Given the description of an element on the screen output the (x, y) to click on. 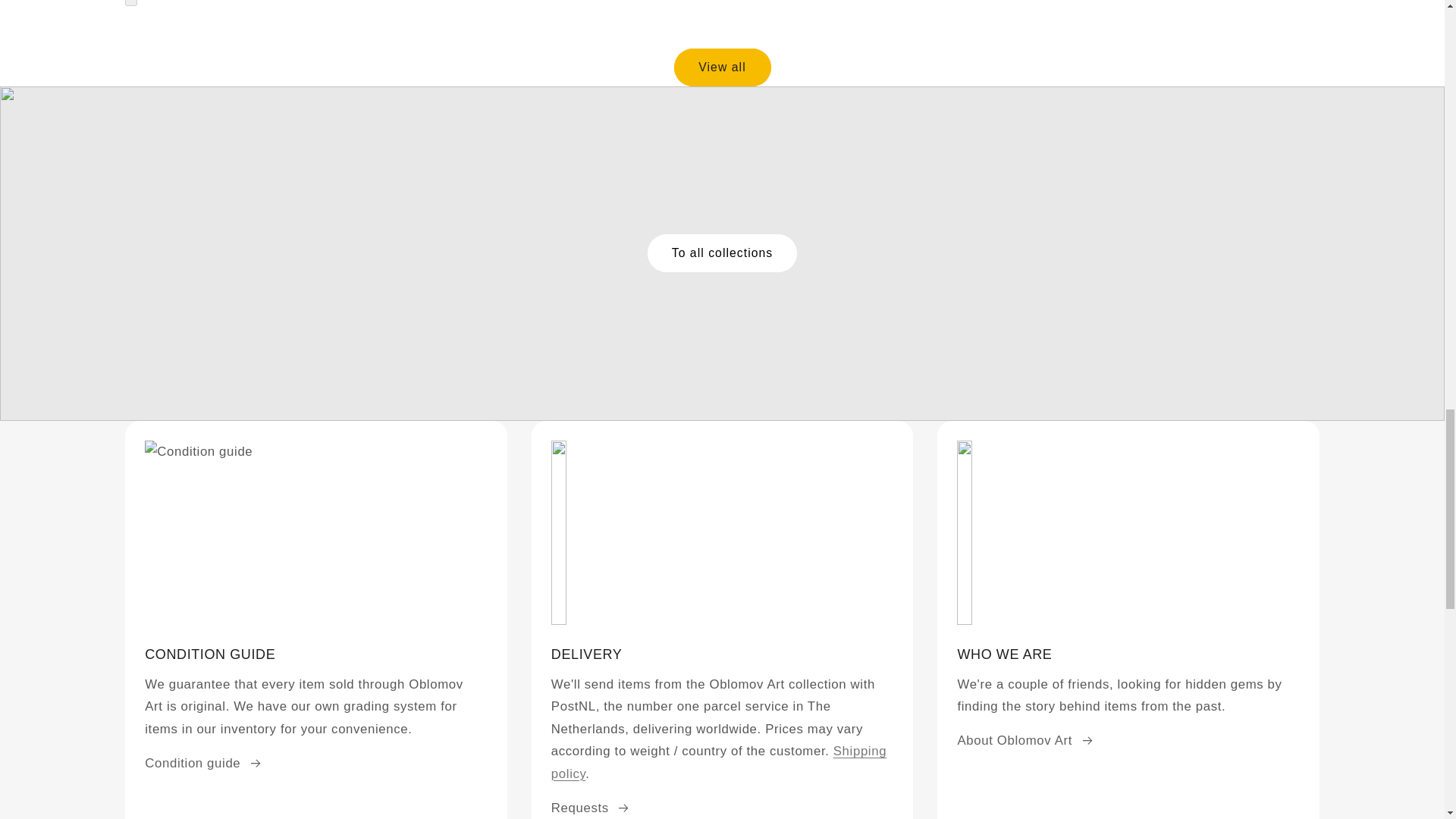
Shipping Policy (718, 762)
